Given the description of an element on the screen output the (x, y) to click on. 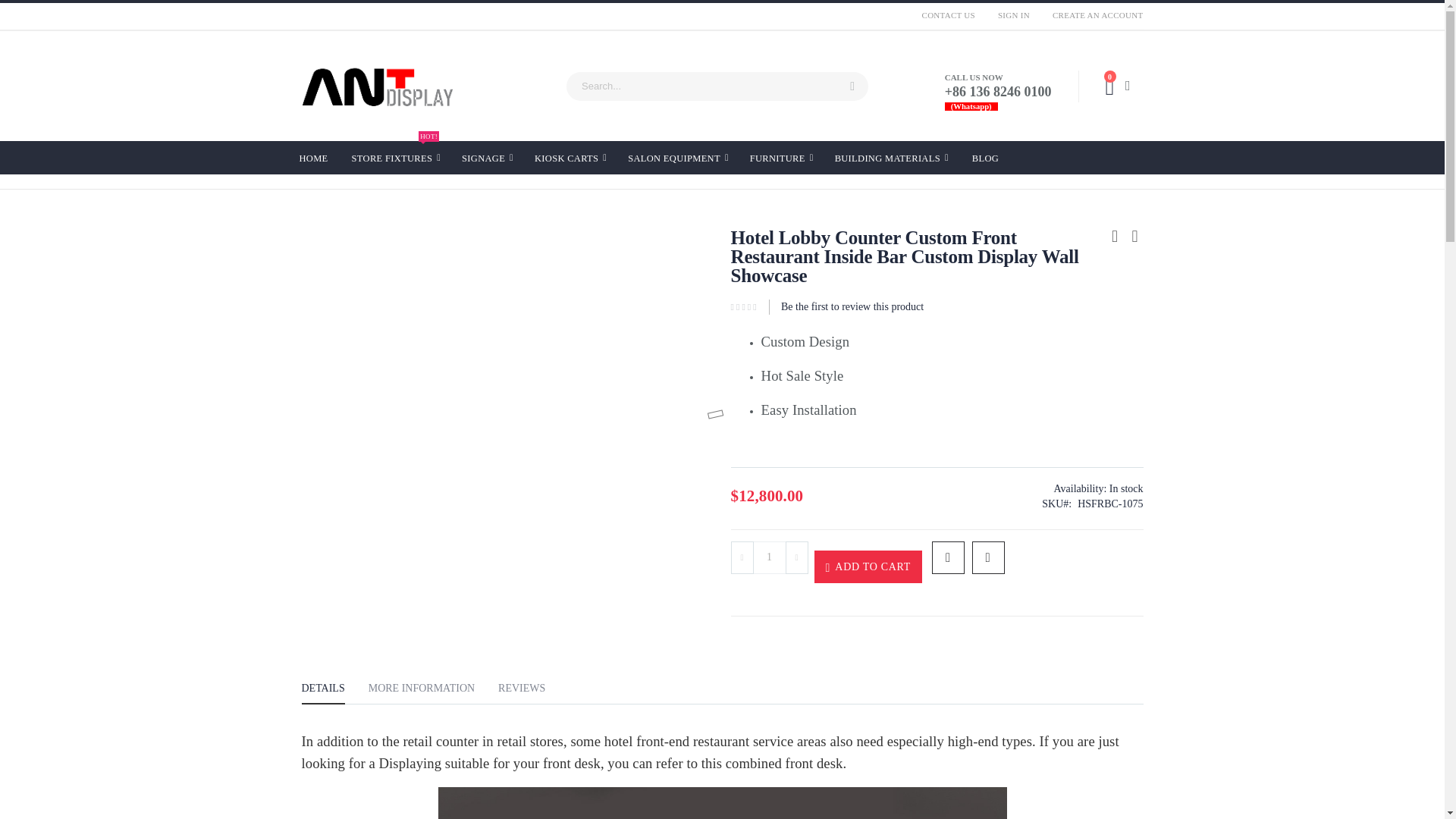
CONTACT US (949, 15)
Search (851, 86)
CREATE AN ACCOUNT (1091, 15)
Store Fixtures (395, 157)
SIGN IN (395, 157)
1 (1014, 15)
Search (769, 557)
HOME (851, 86)
